Given the description of an element on the screen output the (x, y) to click on. 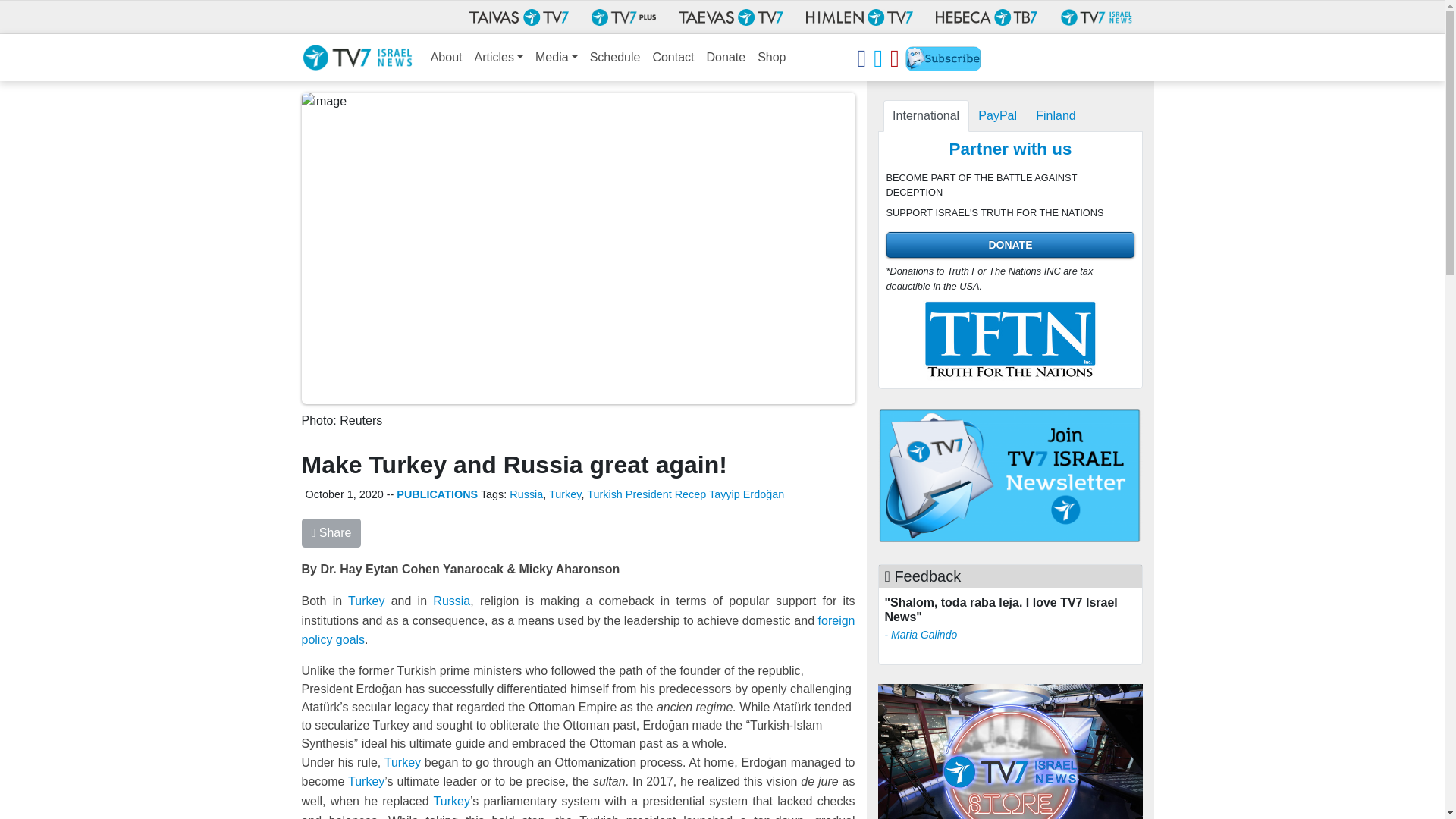
Newsletter (943, 60)
Articles (498, 57)
Russia (526, 494)
Donate (726, 57)
Schedule (614, 57)
Turkey (365, 600)
Russia (451, 600)
Turkey (564, 494)
Shop (771, 57)
PUBLICATIONS (436, 494)
